Given the description of an element on the screen output the (x, y) to click on. 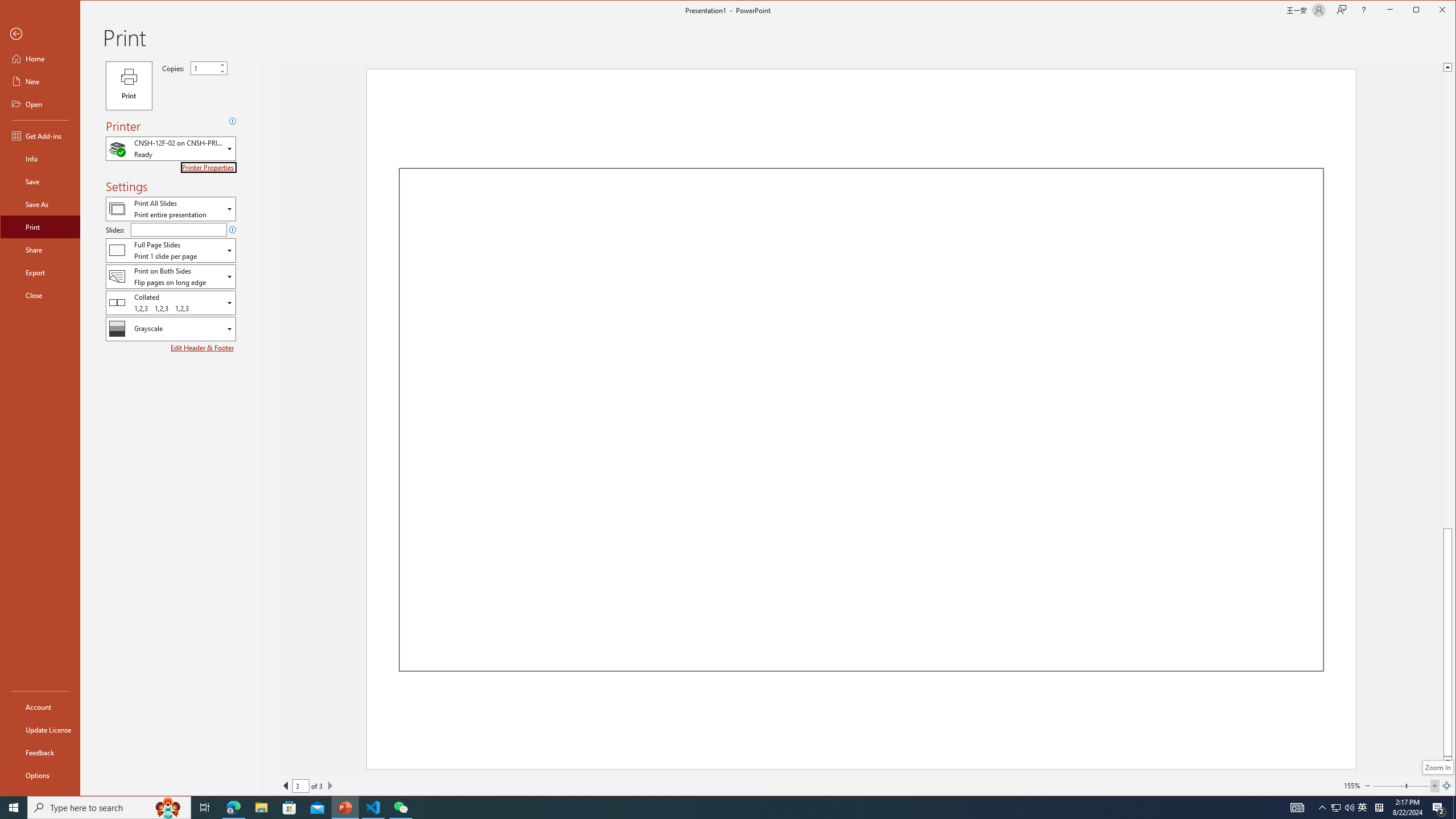
Search highlights icon opens search home window (167, 807)
Previous Page (285, 785)
Less (221, 70)
Two-Sided Printing (170, 276)
Show desktop (1454, 807)
Notification Chevron (1322, 807)
Print (129, 85)
AutomationID: 4105 (1297, 807)
